Given the description of an element on the screen output the (x, y) to click on. 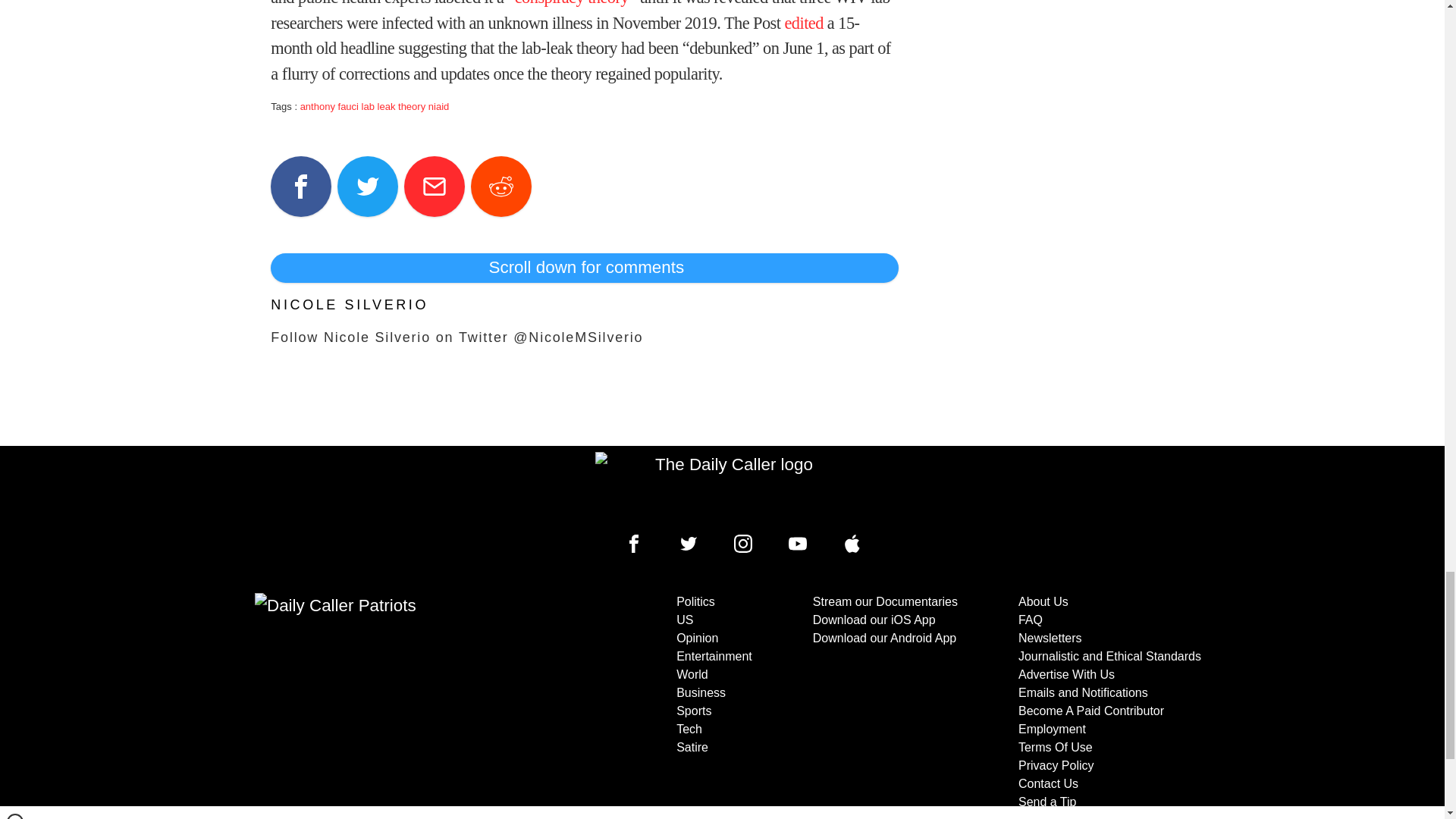
Daily Caller YouTube (852, 543)
Daily Caller Twitter (688, 543)
To home page (727, 487)
Subscribe to The Daily Caller (405, 705)
Scroll down for comments (584, 267)
Daily Caller Facebook (633, 543)
Daily Caller YouTube (797, 543)
Daily Caller Instagram (742, 543)
